Given the description of an element on the screen output the (x, y) to click on. 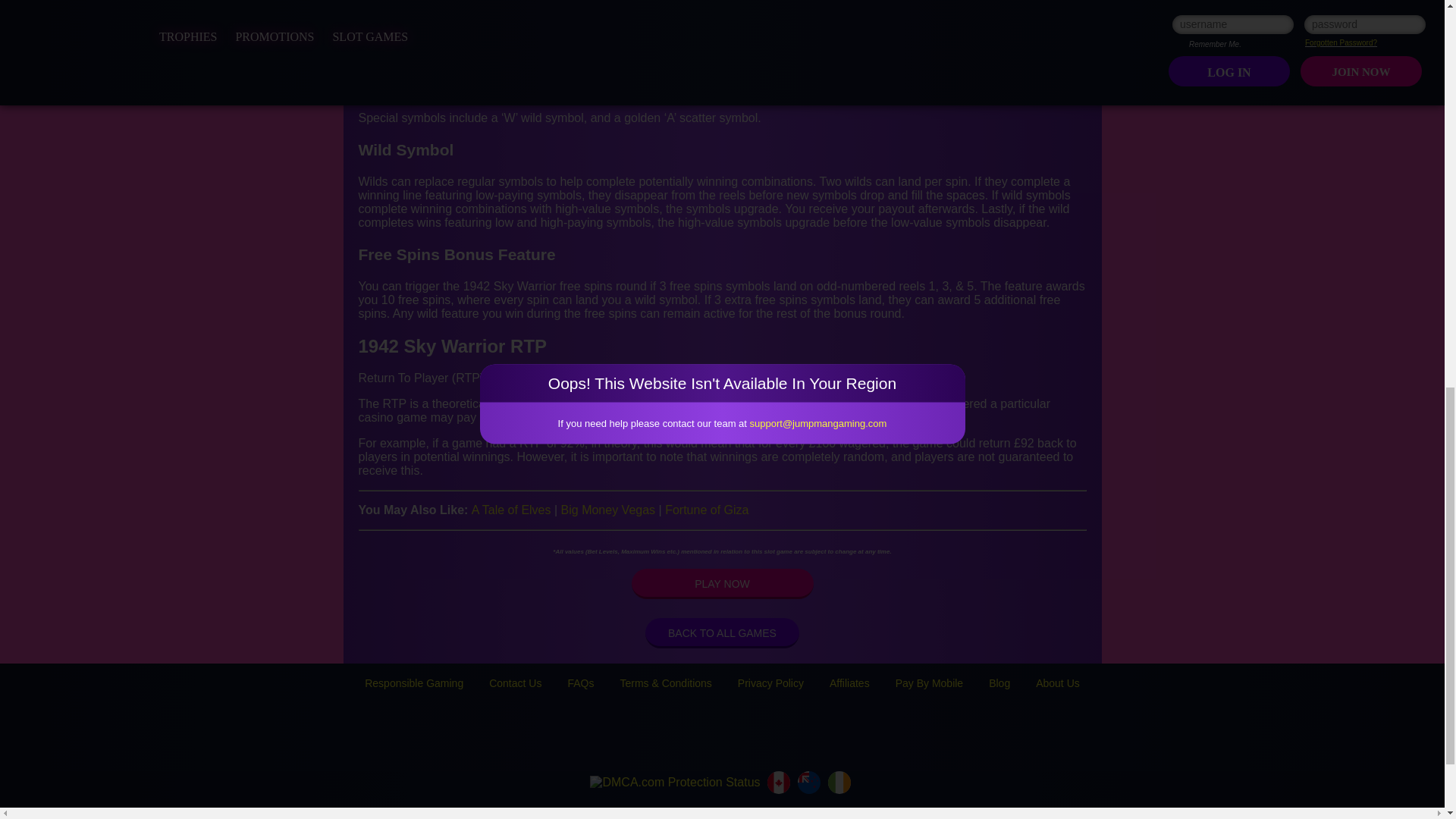
About Us (1057, 683)
Responsible Gaming (414, 683)
A Tale of Elves (511, 509)
DMCA.com Protection Status (674, 782)
FAQs (580, 683)
Blog (999, 683)
Affiliates (849, 683)
Fortune of Giza (706, 509)
Big Money Vegas (608, 509)
BACK TO ALL GAMES (722, 633)
Pay By Mobile (928, 683)
Privacy Policy (770, 683)
BACK TO ALL GAMES (722, 633)
Contact Us (515, 683)
